Given the description of an element on the screen output the (x, y) to click on. 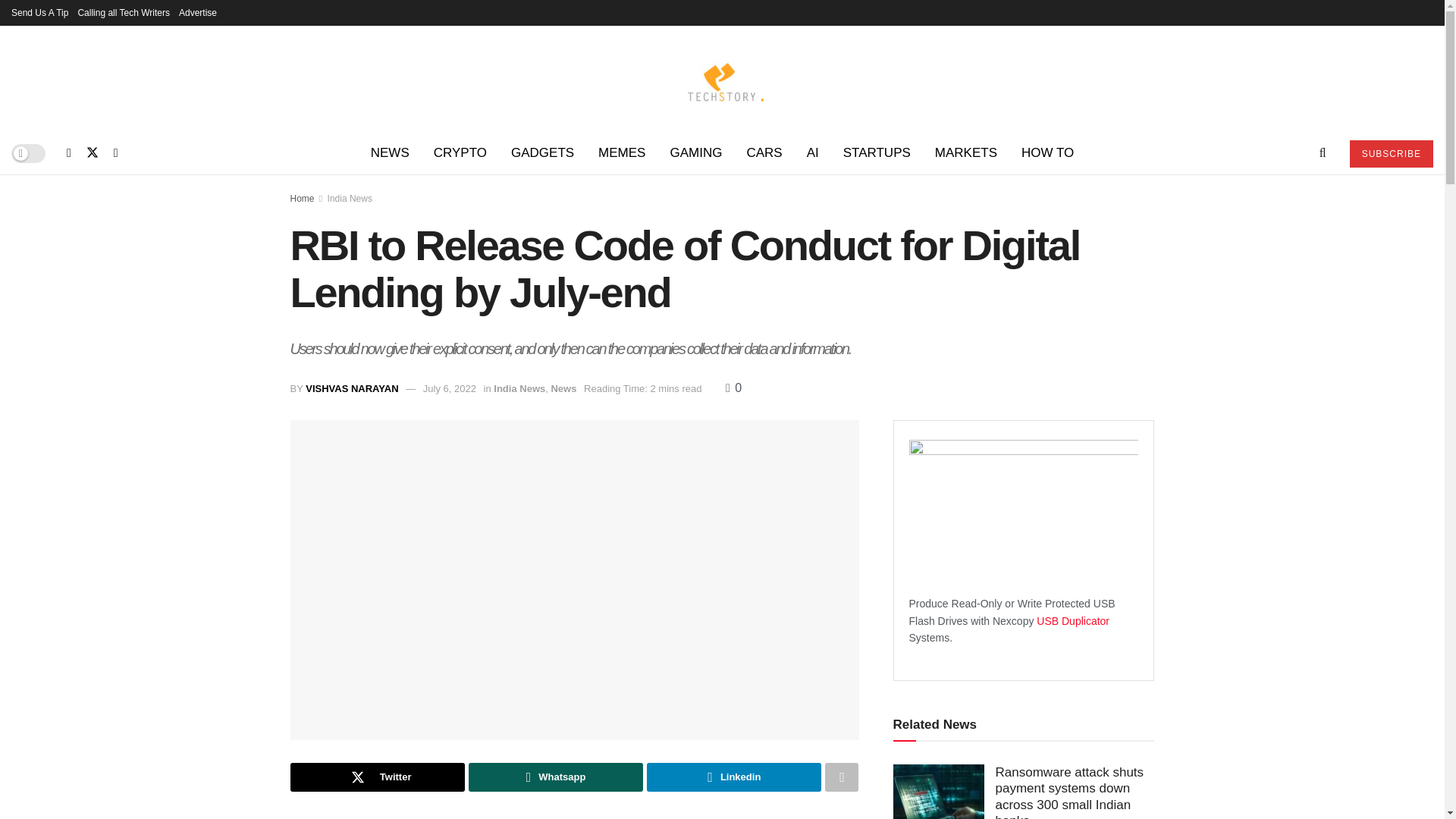
CRYPTO (460, 152)
NEWS (390, 152)
VISHVAS NARAYAN (351, 388)
HOW TO (1047, 152)
Home (301, 198)
SUBSCRIBE (1390, 153)
India News (349, 198)
USB duplicator (1072, 621)
Calling all Tech Writers (123, 12)
GADGETS (542, 152)
Send Us A Tip (39, 12)
CARS (763, 152)
MEMES (622, 152)
Advertise (197, 12)
MARKETS (966, 152)
